Given the description of an element on the screen output the (x, y) to click on. 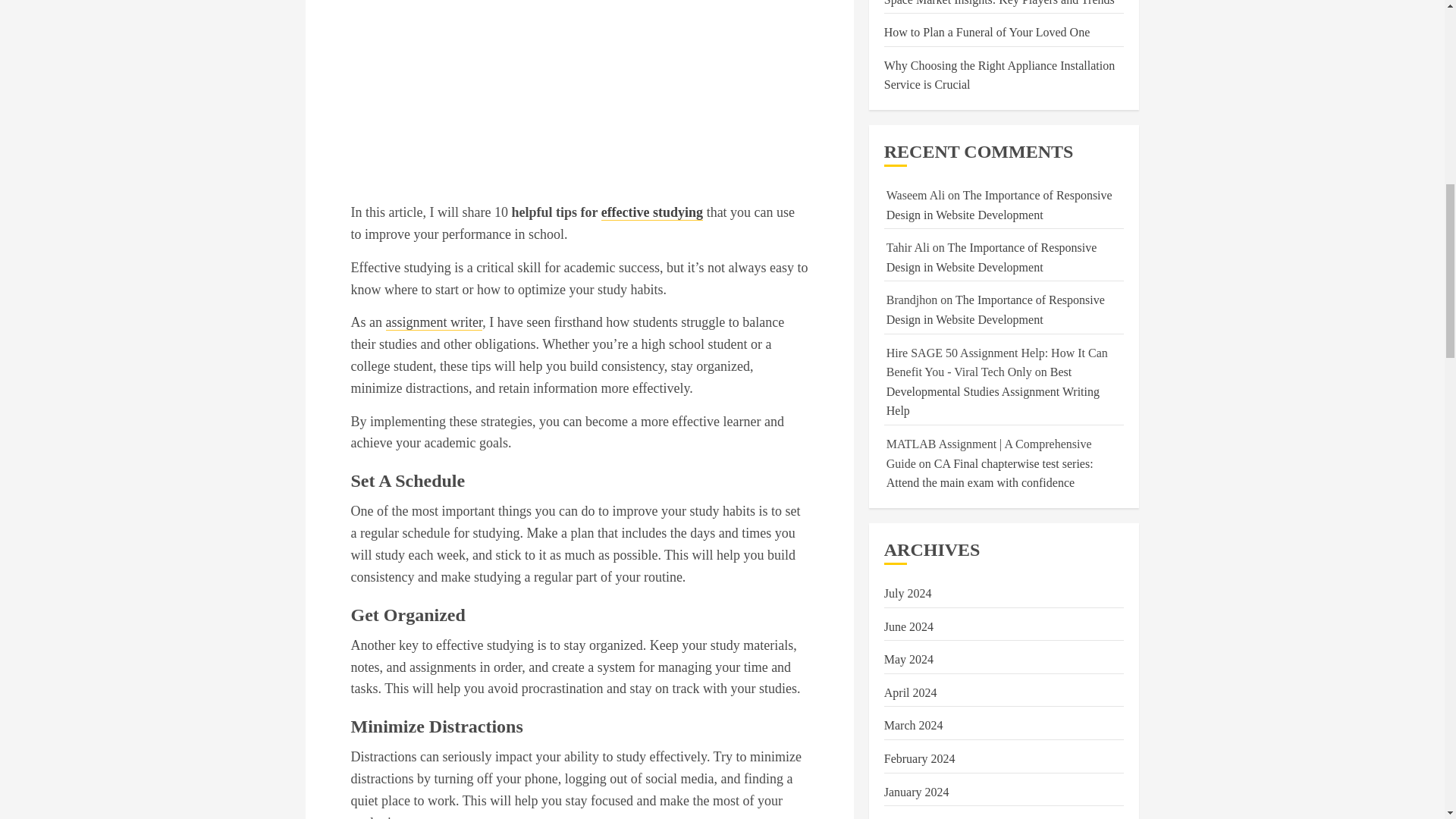
The Importance of Responsive Design in Website Development (995, 309)
The Importance of Responsive Design in Website Development (991, 257)
Space Market Insights: Key Players and Trends (999, 2)
assignment writer (433, 322)
effective studying (652, 212)
How to Plan a Funeral of Your Loved One (986, 32)
The Importance of Responsive Design in Website Development (999, 205)
